Given the description of an element on the screen output the (x, y) to click on. 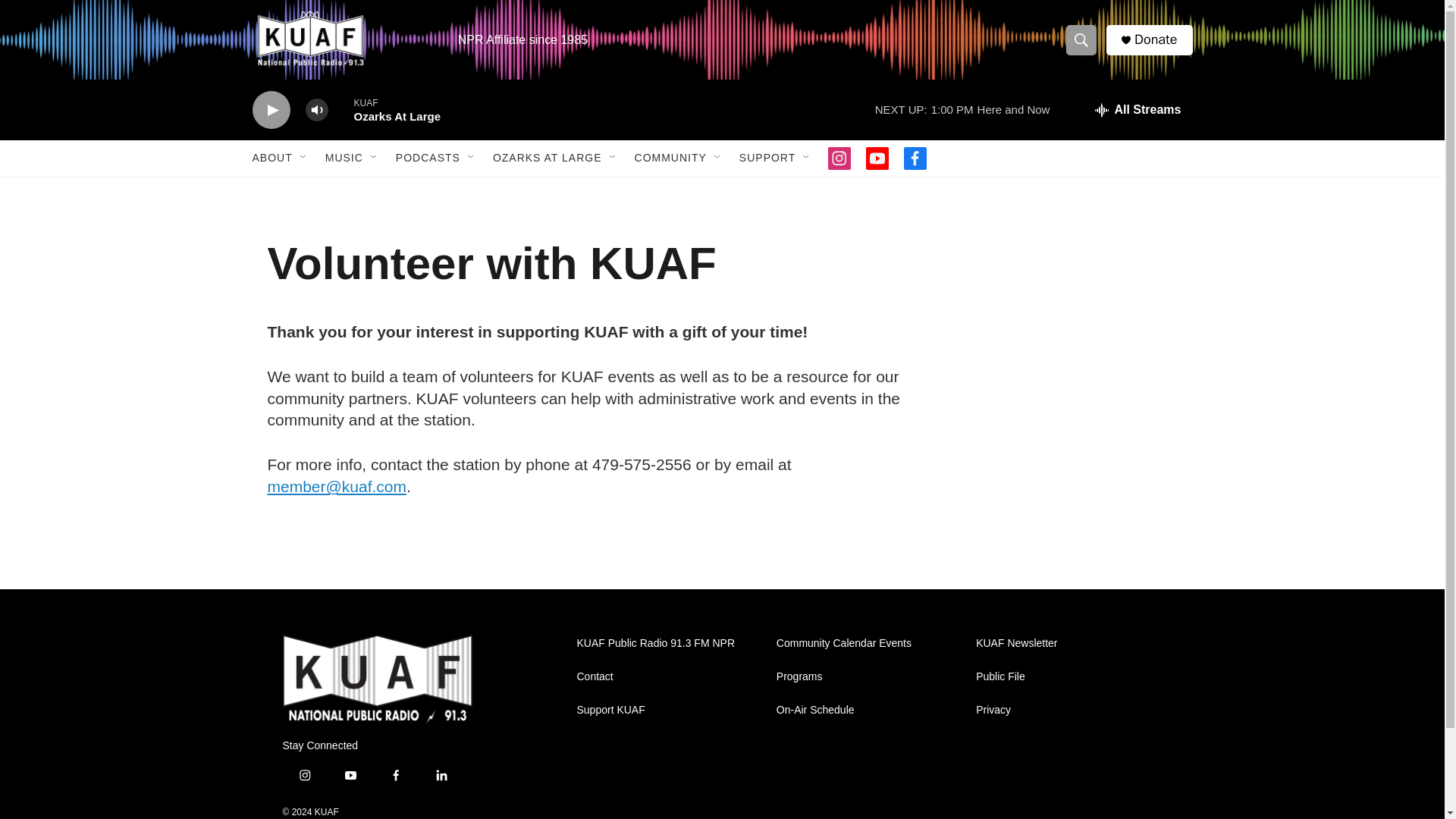
3rd party ad content (1047, 436)
